Given the description of an element on the screen output the (x, y) to click on. 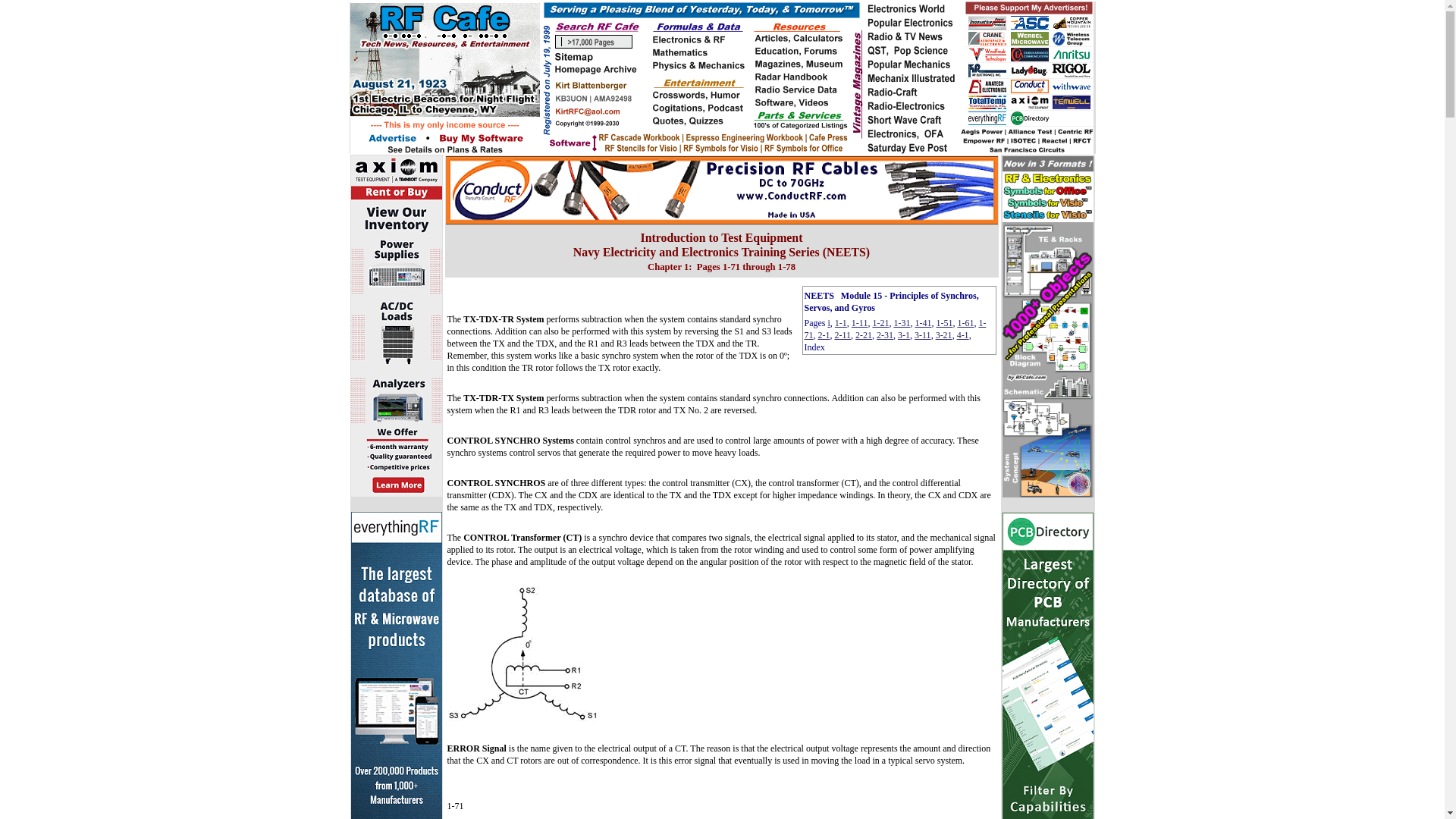
2-21 (864, 335)
1-1 (840, 322)
1-41 (922, 322)
3-1 (904, 335)
3-11 (922, 335)
2-11 (842, 335)
1-21 (880, 322)
2-31 (884, 335)
1-61 (965, 322)
1-11 (859, 322)
